Given the description of an element on the screen output the (x, y) to click on. 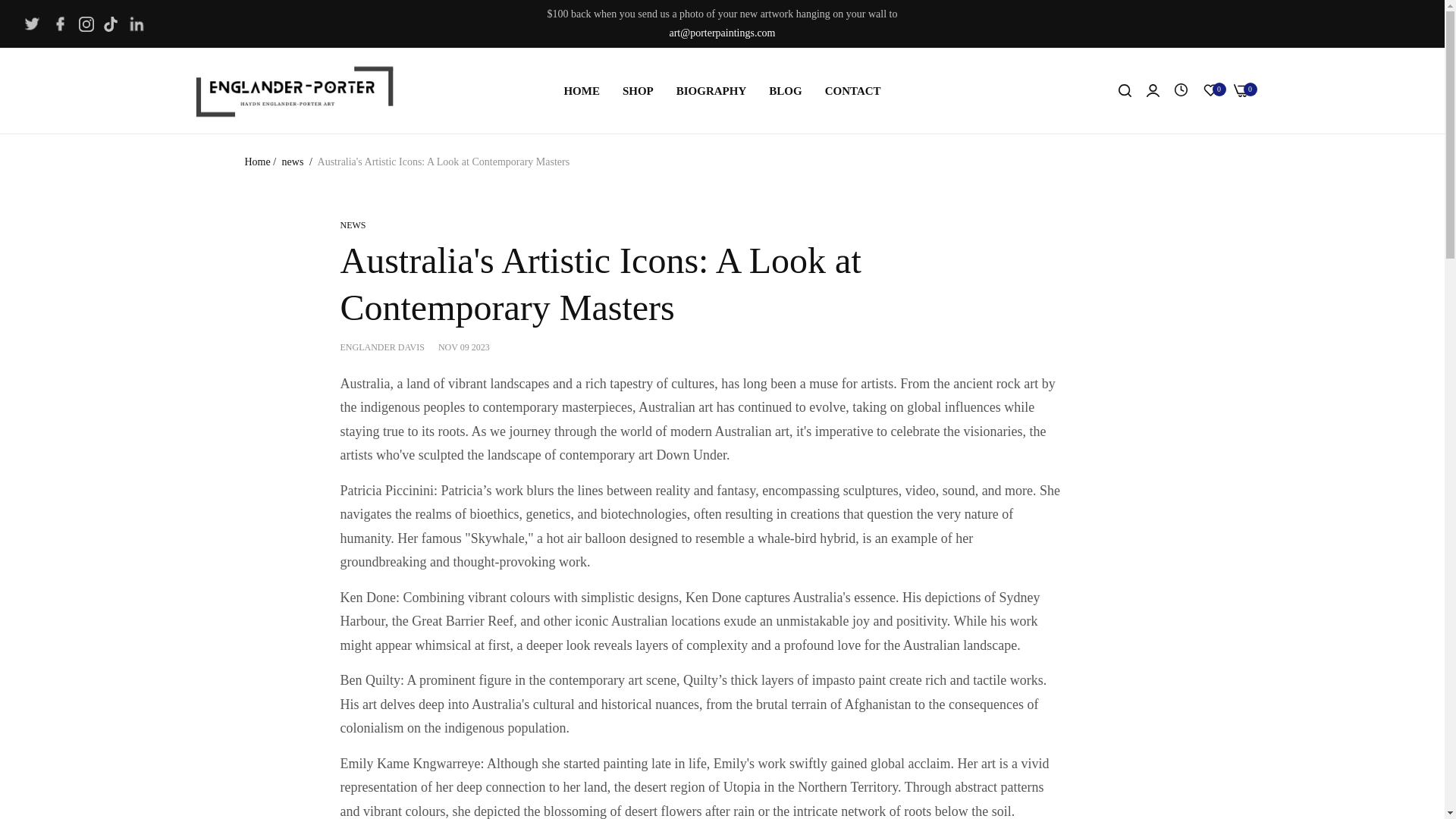
Englander-Porter  (293, 90)
HOME (581, 90)
BLOG (784, 90)
0 (1210, 90)
NEWS (352, 225)
0 (1241, 90)
Home (256, 161)
SHOP (638, 90)
news (293, 161)
CONTACT (852, 90)
BIOGRAPHY (711, 90)
